Given the description of an element on the screen output the (x, y) to click on. 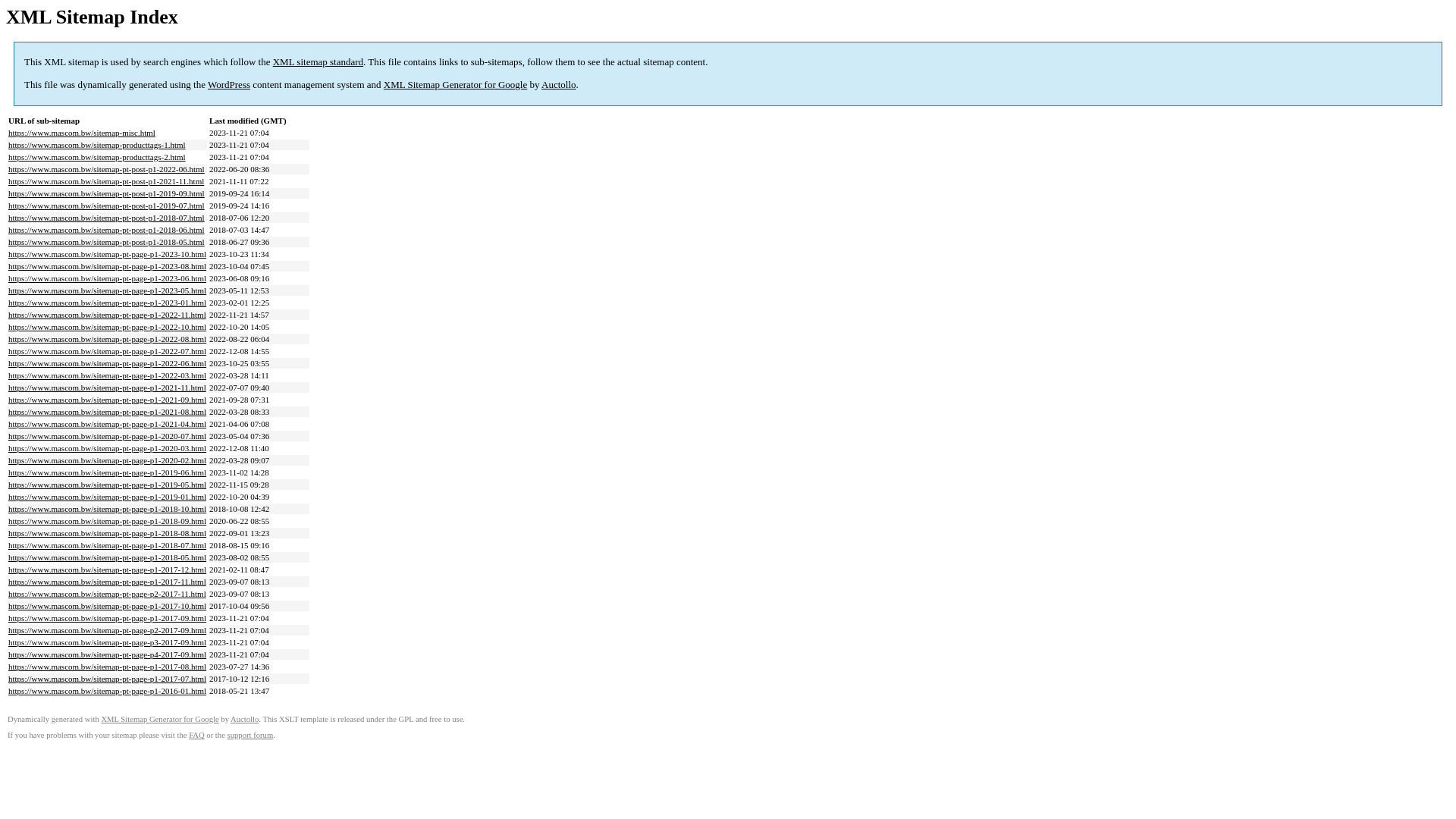
https://www.mascom.bw/sitemap-pt-page-p1-2017-10.html Element type: text (107, 605)
https://www.mascom.bw/sitemap-pt-page-p1-2023-05.html Element type: text (107, 289)
https://www.mascom.bw/sitemap-pt-page-p1-2019-05.html Element type: text (107, 484)
https://www.mascom.bw/sitemap-pt-page-p1-2022-11.html Element type: text (107, 314)
https://www.mascom.bw/sitemap-pt-post-p1-2018-05.html Element type: text (106, 241)
https://www.mascom.bw/sitemap-pt-page-p1-2022-10.html Element type: text (107, 326)
XML Sitemap Generator for Google Element type: text (159, 719)
https://www.mascom.bw/sitemap-producttags-1.html Element type: text (96, 144)
https://www.mascom.bw/sitemap-pt-page-p1-2018-09.html Element type: text (107, 520)
XML Sitemap Generator for Google Element type: text (455, 84)
https://www.mascom.bw/sitemap-pt-page-p1-2021-04.html Element type: text (107, 423)
Auctollo Element type: text (244, 719)
https://www.mascom.bw/sitemap-pt-page-p1-2022-06.html Element type: text (107, 362)
https://www.mascom.bw/sitemap-pt-page-p1-2019-06.html Element type: text (107, 471)
FAQ Element type: text (196, 735)
https://www.mascom.bw/sitemap-pt-post-p1-2019-09.html Element type: text (106, 192)
https://www.mascom.bw/sitemap-pt-page-p1-2021-09.html Element type: text (107, 399)
https://www.mascom.bw/sitemap-pt-page-p1-2018-08.html Element type: text (107, 532)
https://www.mascom.bw/sitemap-pt-page-p1-2020-03.html Element type: text (107, 447)
https://www.mascom.bw/sitemap-pt-page-p1-2023-08.html Element type: text (107, 265)
WordPress Element type: text (228, 84)
https://www.mascom.bw/sitemap-pt-post-p1-2019-07.html Element type: text (106, 205)
https://www.mascom.bw/sitemap-pt-page-p1-2018-05.html Element type: text (107, 556)
https://www.mascom.bw/sitemap-pt-page-p1-2016-01.html Element type: text (107, 690)
https://www.mascom.bw/sitemap-producttags-2.html Element type: text (96, 156)
https://www.mascom.bw/sitemap-pt-post-p1-2018-06.html Element type: text (106, 229)
https://www.mascom.bw/sitemap-pt-page-p1-2017-09.html Element type: text (107, 617)
Auctollo Element type: text (558, 84)
https://www.mascom.bw/sitemap-pt-page-p2-2017-11.html Element type: text (107, 593)
https://www.mascom.bw/sitemap-pt-page-p1-2021-11.html Element type: text (107, 387)
https://www.mascom.bw/sitemap-pt-page-p1-2020-07.html Element type: text (107, 435)
https://www.mascom.bw/sitemap-pt-page-p1-2022-07.html Element type: text (107, 350)
https://www.mascom.bw/sitemap-pt-page-p1-2022-03.html Element type: text (107, 374)
https://www.mascom.bw/sitemap-pt-page-p1-2019-01.html Element type: text (107, 496)
https://www.mascom.bw/sitemap-pt-page-p1-2017-07.html Element type: text (107, 678)
https://www.mascom.bw/sitemap-pt-page-p1-2018-10.html Element type: text (107, 508)
https://www.mascom.bw/sitemap-misc.html Element type: text (81, 132)
https://www.mascom.bw/sitemap-pt-page-p3-2017-09.html Element type: text (107, 641)
support forum Element type: text (250, 735)
https://www.mascom.bw/sitemap-pt-page-p1-2020-02.html Element type: text (107, 459)
https://www.mascom.bw/sitemap-pt-post-p1-2018-07.html Element type: text (106, 217)
https://www.mascom.bw/sitemap-pt-page-p4-2017-09.html Element type: text (107, 653)
https://www.mascom.bw/sitemap-pt-page-p1-2021-08.html Element type: text (107, 411)
https://www.mascom.bw/sitemap-pt-page-p1-2023-10.html Element type: text (107, 253)
https://www.mascom.bw/sitemap-pt-page-p2-2017-09.html Element type: text (107, 629)
https://www.mascom.bw/sitemap-pt-post-p1-2021-11.html Element type: text (105, 180)
https://www.mascom.bw/sitemap-pt-post-p1-2022-06.html Element type: text (106, 168)
https://www.mascom.bw/sitemap-pt-page-p1-2018-07.html Element type: text (107, 544)
https://www.mascom.bw/sitemap-pt-page-p1-2017-12.html Element type: text (107, 569)
https://www.mascom.bw/sitemap-pt-page-p1-2017-11.html Element type: text (107, 581)
https://www.mascom.bw/sitemap-pt-page-p1-2023-06.html Element type: text (107, 277)
https://www.mascom.bw/sitemap-pt-page-p1-2017-08.html Element type: text (107, 666)
https://www.mascom.bw/sitemap-pt-page-p1-2022-08.html Element type: text (107, 338)
https://www.mascom.bw/sitemap-pt-page-p1-2023-01.html Element type: text (107, 302)
XML sitemap standard Element type: text (318, 61)
